Given the description of an element on the screen output the (x, y) to click on. 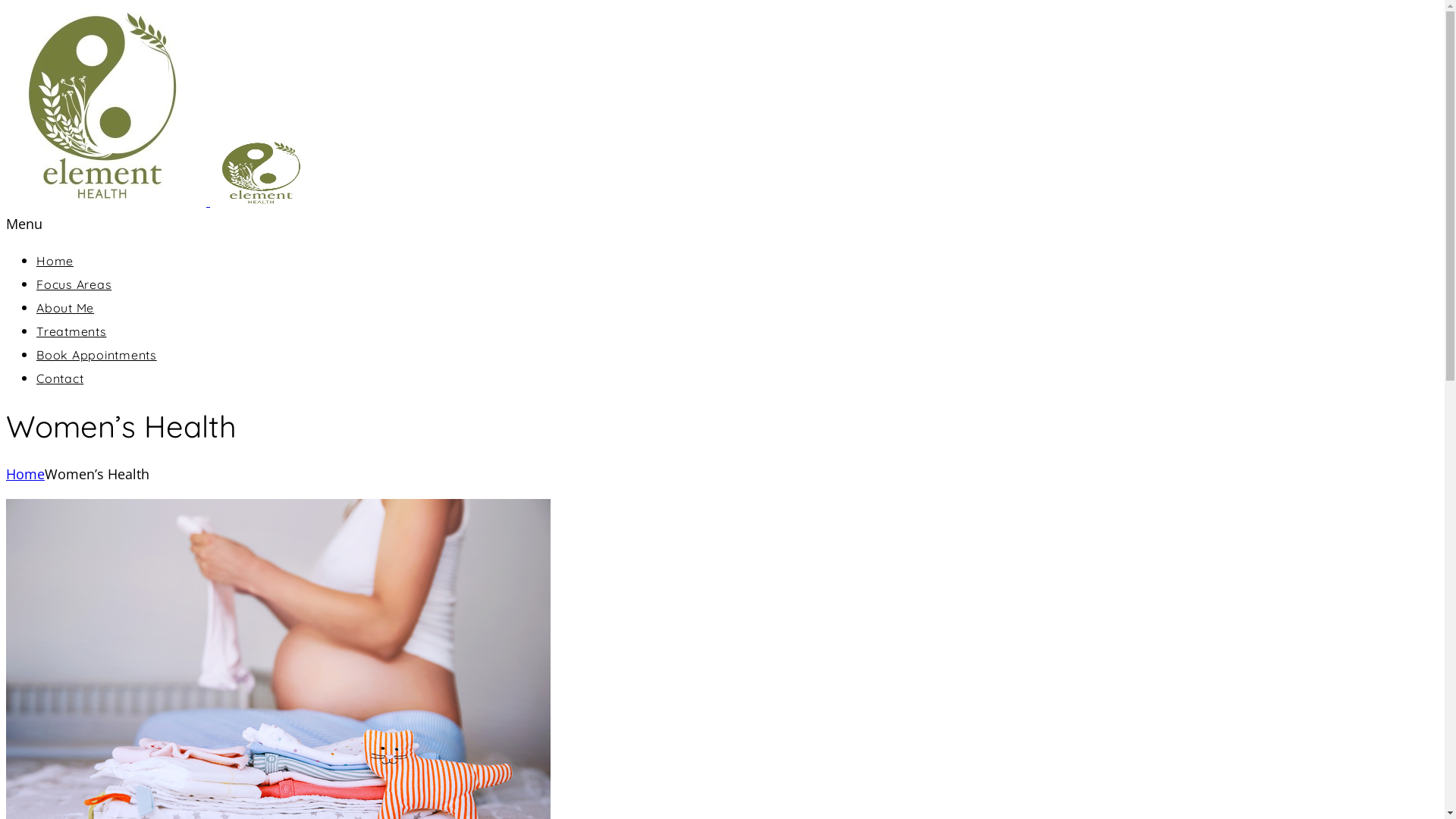
Contact Element type: text (59, 377)
Element Health Element type: hover (106, 106)
Treatments Element type: text (71, 330)
Home Element type: text (54, 260)
Focus Areas Element type: text (73, 283)
Element Health Element type: hover (161, 200)
Home Element type: text (25, 473)
About Me Element type: text (65, 307)
Element Health Element type: hover (263, 172)
Book Appointments Element type: text (96, 354)
